Given the description of an element on the screen output the (x, y) to click on. 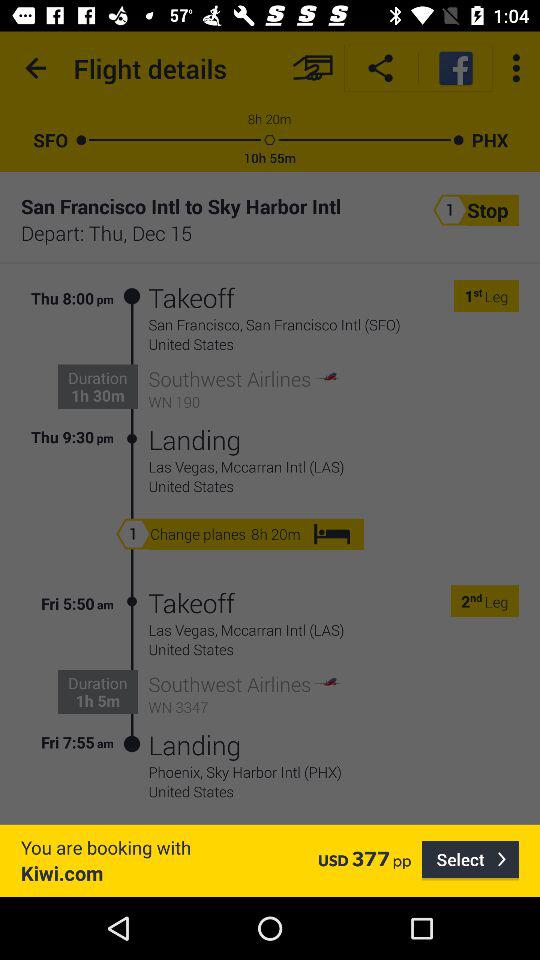
turn off item next to the flight details icon (312, 67)
